Given the description of an element on the screen output the (x, y) to click on. 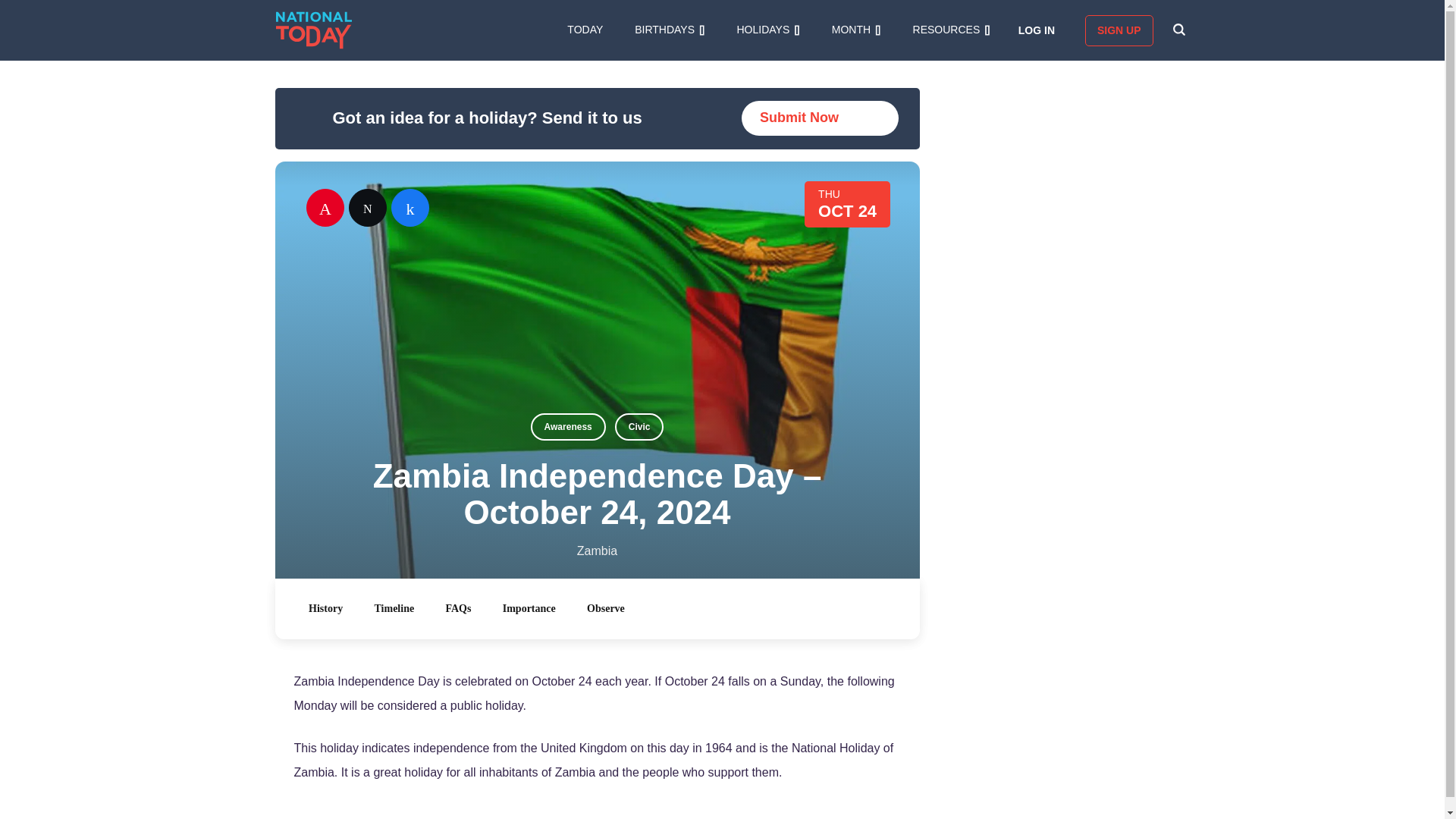
TODAY (584, 29)
National Today (314, 30)
SEARCH (1178, 29)
HOLIDAYS (767, 29)
National Today (314, 30)
BIRTHDAYS (669, 29)
MONTH (855, 29)
